Given the description of an element on the screen output the (x, y) to click on. 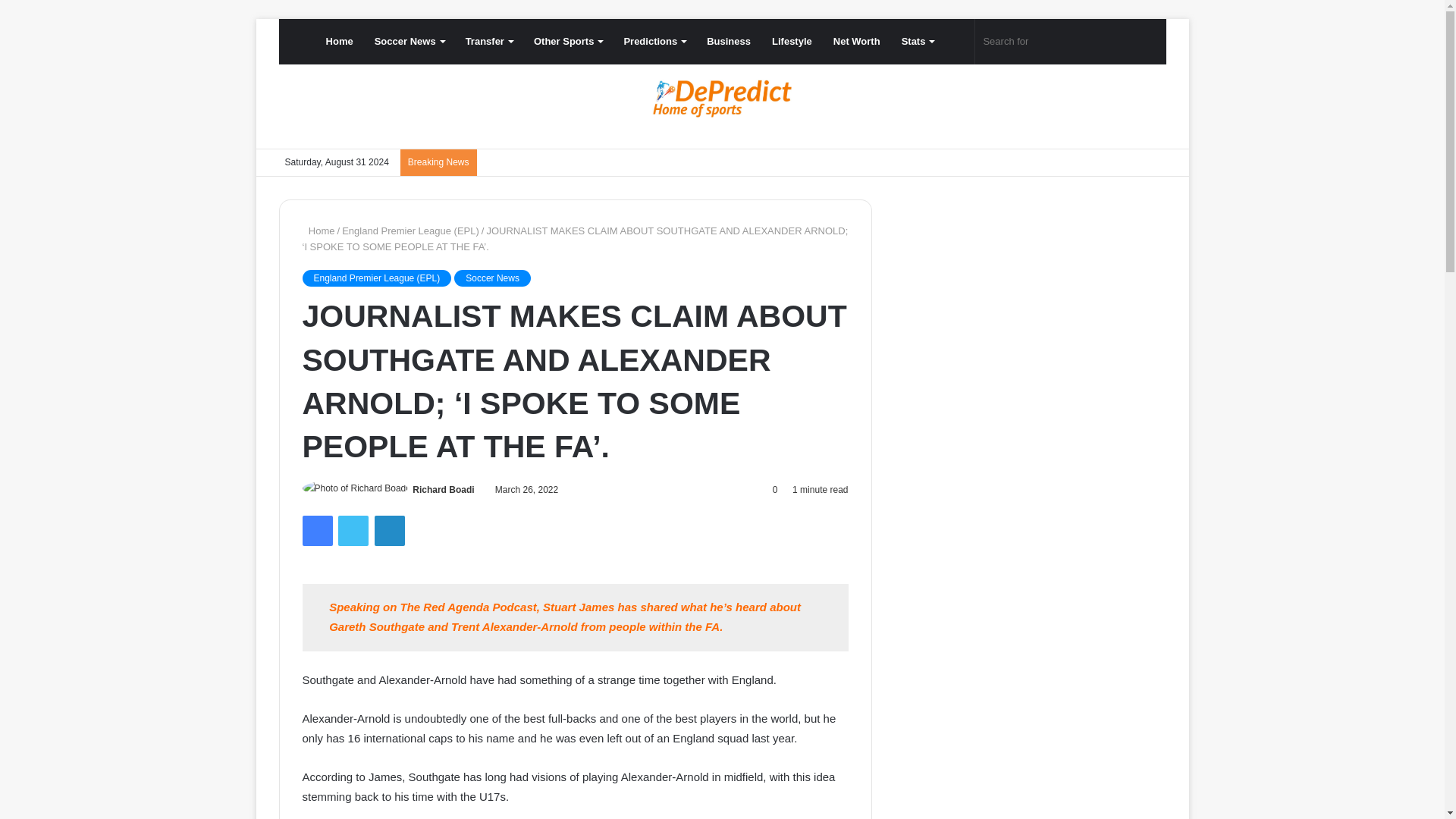
Predictions (653, 41)
Twitter (352, 530)
Transfer (488, 41)
LinkedIn (389, 530)
DePredict.com (722, 98)
Richard Boadi (443, 489)
Search for (1052, 41)
Soccer News (409, 41)
Home (339, 41)
Other Sports (567, 41)
